Given the description of an element on the screen output the (x, y) to click on. 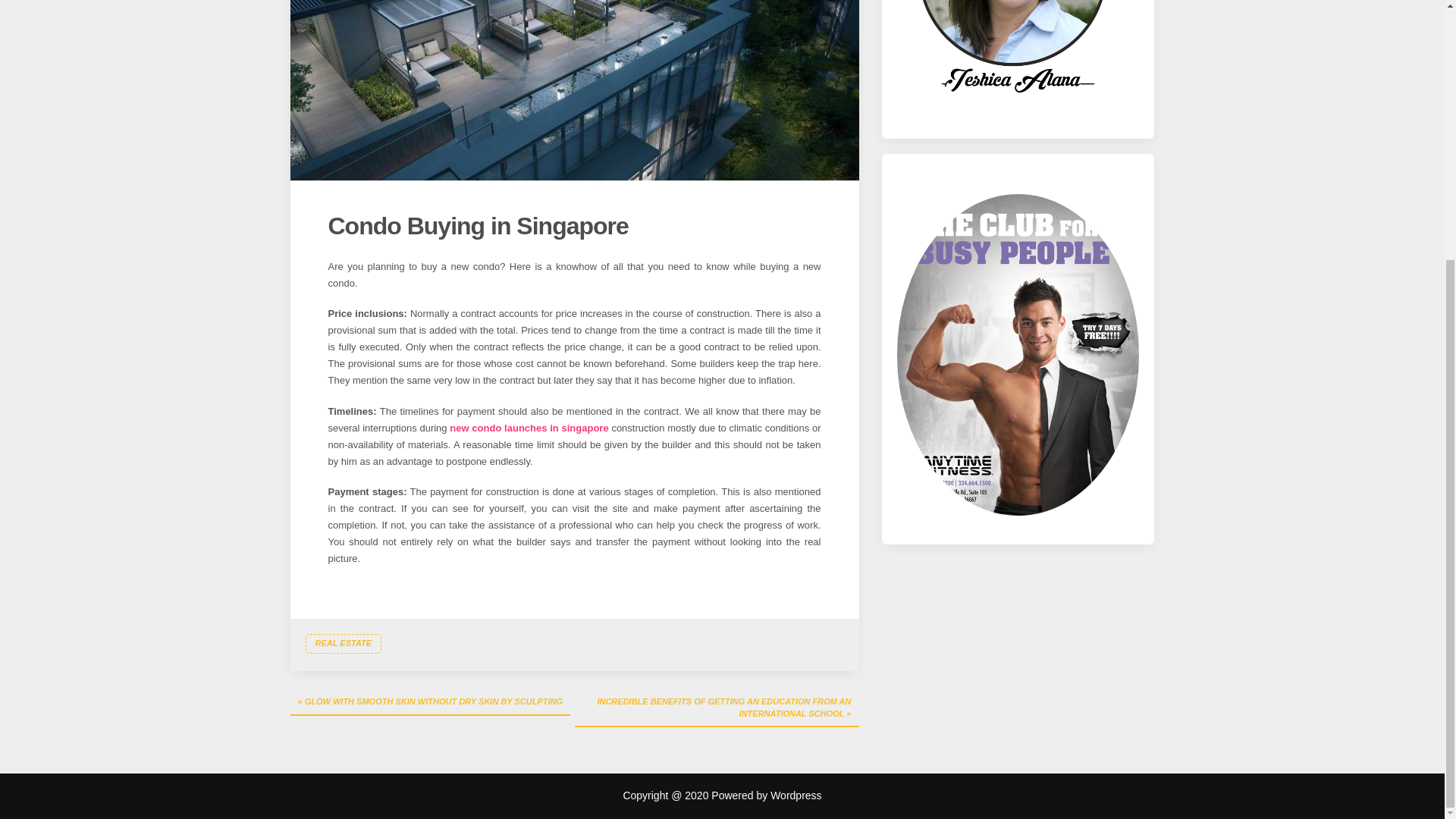
new condo launches in singapore (528, 428)
GLOW WITH SMOOTH SKIN WITHOUT DRY SKIN BY SCULPTING (429, 702)
REAL ESTATE (342, 643)
